Given the description of an element on the screen output the (x, y) to click on. 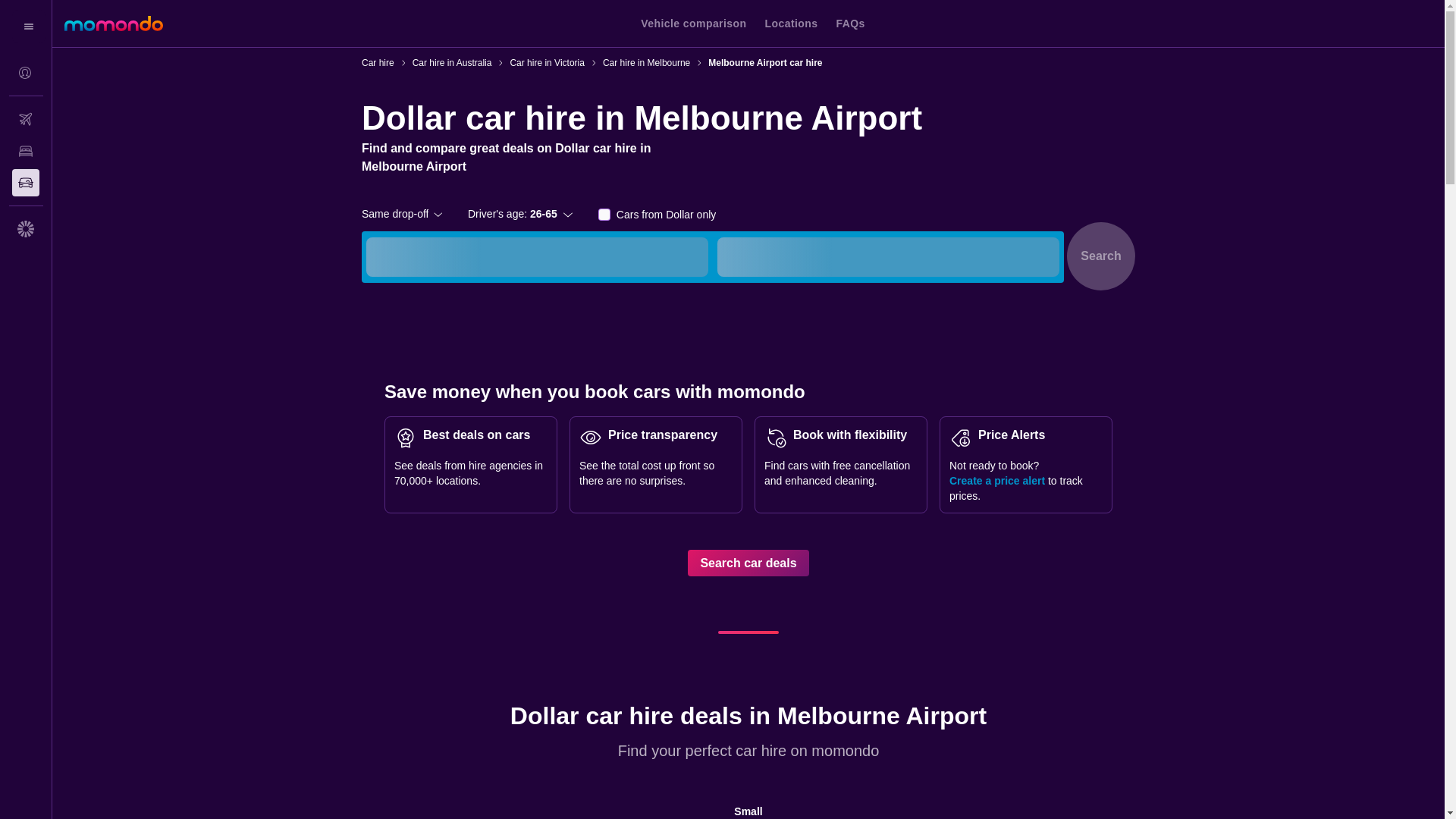
Create a price alert (997, 480)
Car hire in Melbourne (646, 62)
Small (748, 805)
Car hire (377, 62)
Search (1101, 255)
Search car deals (747, 563)
Search (1101, 255)
Car hire in Australia (452, 62)
Car hire in Victoria (546, 62)
